Given the description of an element on the screen output the (x, y) to click on. 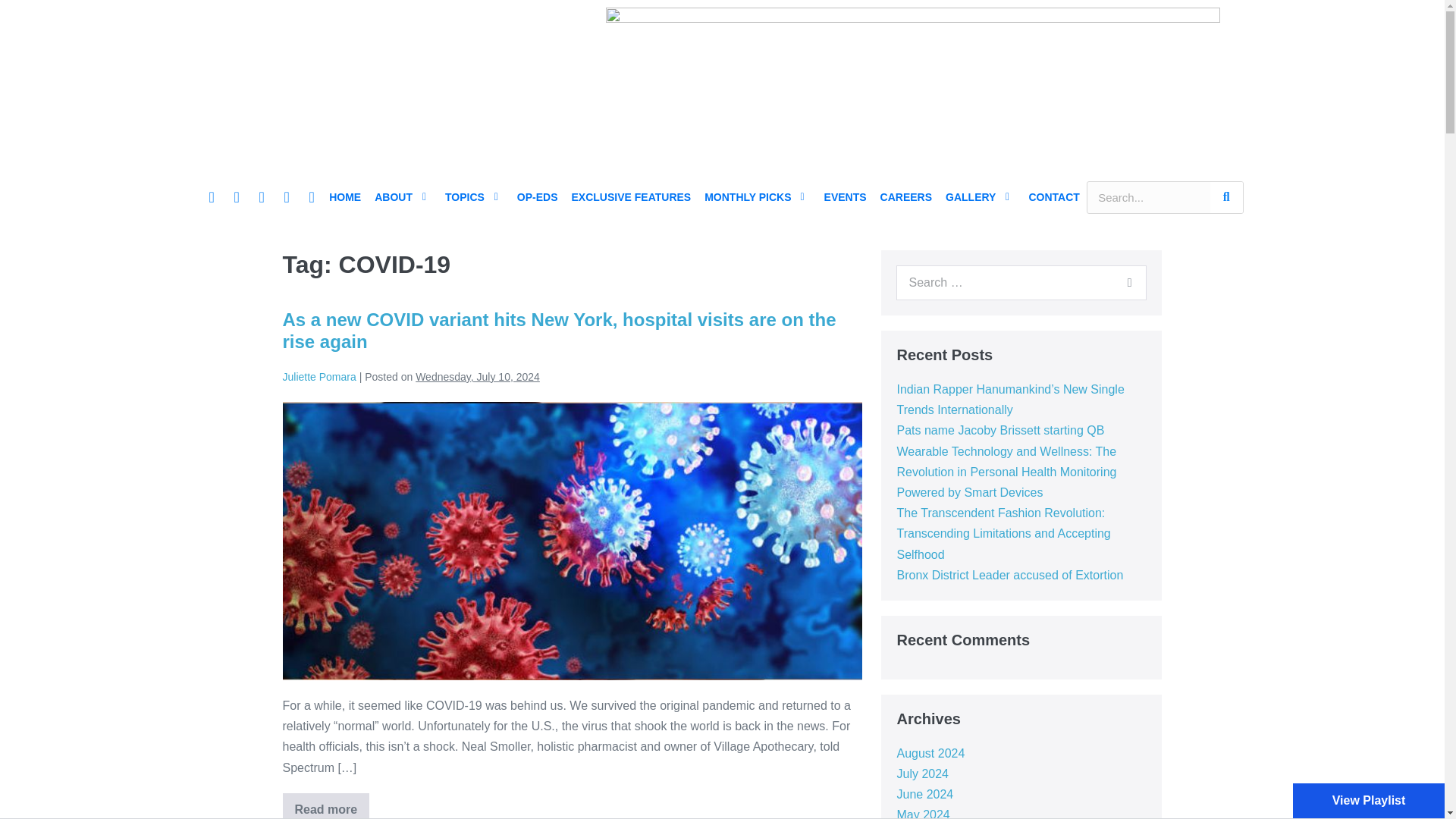
OP-EDS (536, 197)
ABOUT (395, 197)
HOME (345, 197)
TOPICS (467, 197)
Press enter to search (1021, 282)
EXCLUSIVE FEATURES (631, 197)
View all posts by Juliette Pomara (318, 377)
MONTHLY PICKS (748, 197)
